Given the description of an element on the screen output the (x, y) to click on. 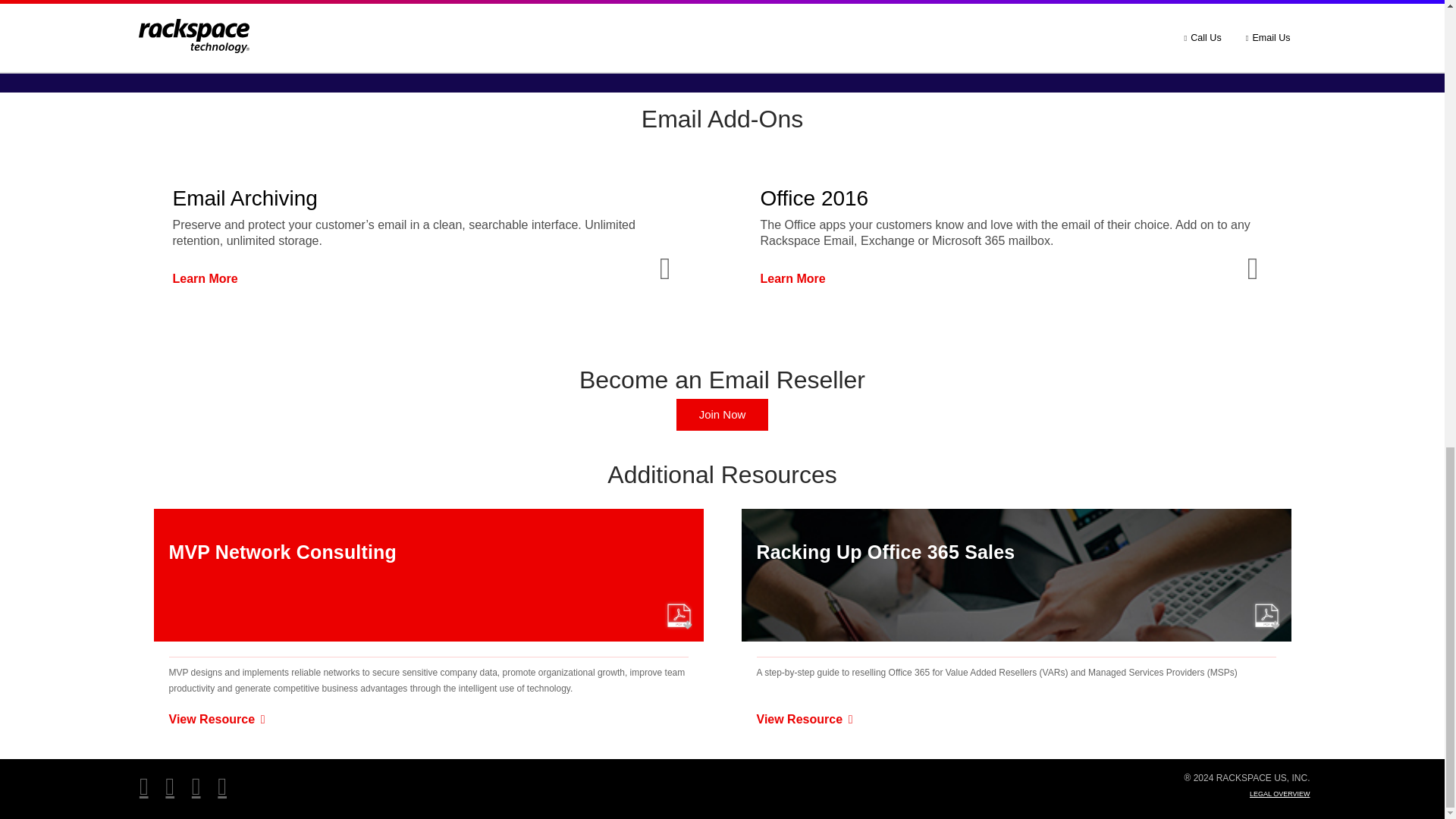
Join Now (722, 414)
LEGAL OVERVIEW (1279, 793)
